Given the description of an element on the screen output the (x, y) to click on. 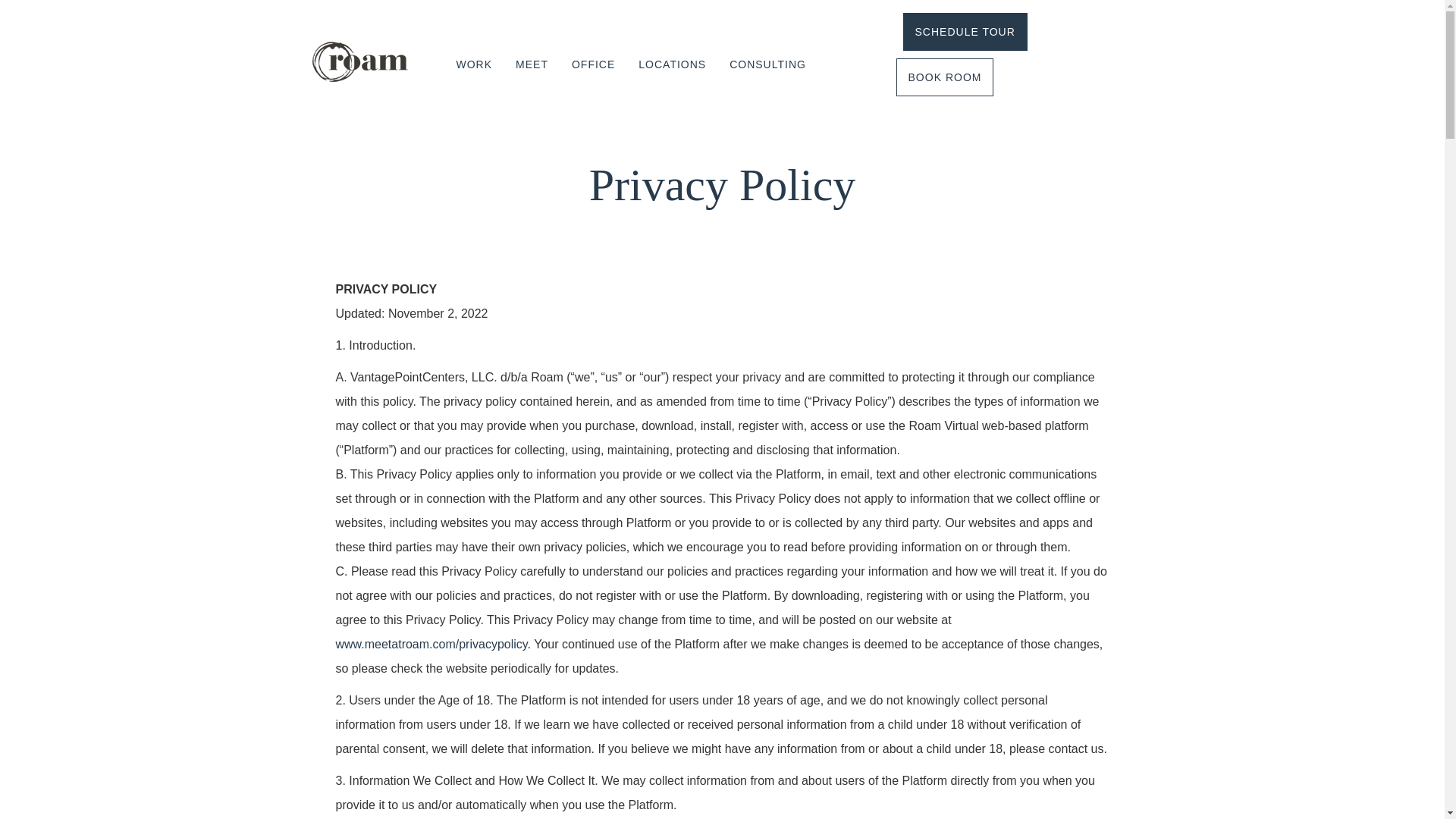
WORK (473, 64)
MEET (531, 64)
SCHEDULE TOUR (964, 31)
CONSULTING (766, 64)
LOCATIONS (672, 64)
OFFICE (593, 64)
BOOK ROOM (945, 77)
Roam Atlanta Logo (359, 61)
